Given the description of an element on the screen output the (x, y) to click on. 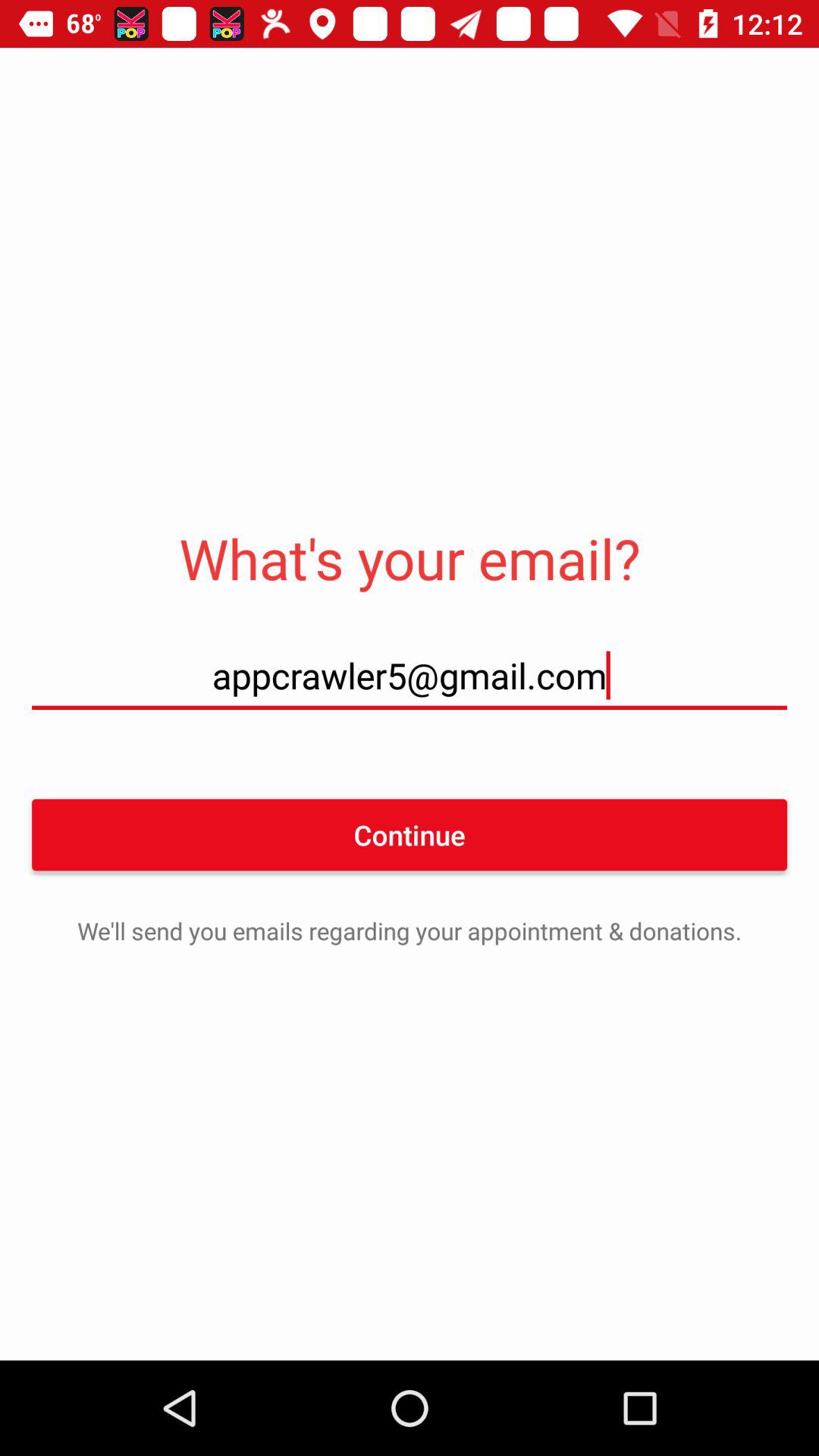
open item above we ll send item (409, 834)
